Given the description of an element on the screen output the (x, y) to click on. 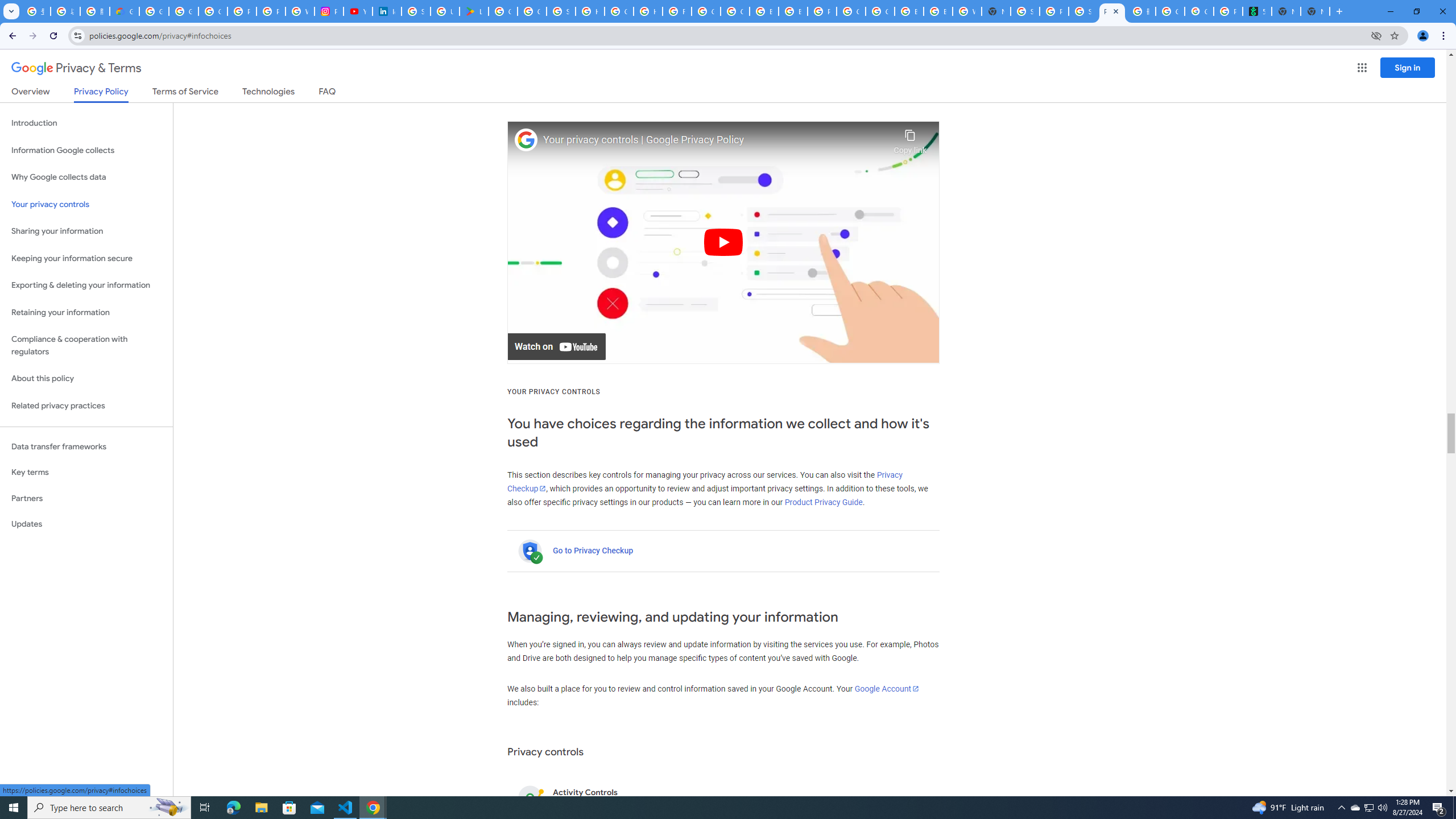
Related privacy practices (86, 405)
Retaining your information (86, 312)
Keeping your information secure (86, 258)
Google Cloud Platform (850, 11)
Browse Chrome as a guest - Computer - Google Chrome Help (763, 11)
Last Shelter: Survival - Apps on Google Play (473, 11)
Exporting & deleting your information (86, 284)
Go to Privacy Checkup (593, 550)
Data transfer frameworks (86, 446)
